Given the description of an element on the screen output the (x, y) to click on. 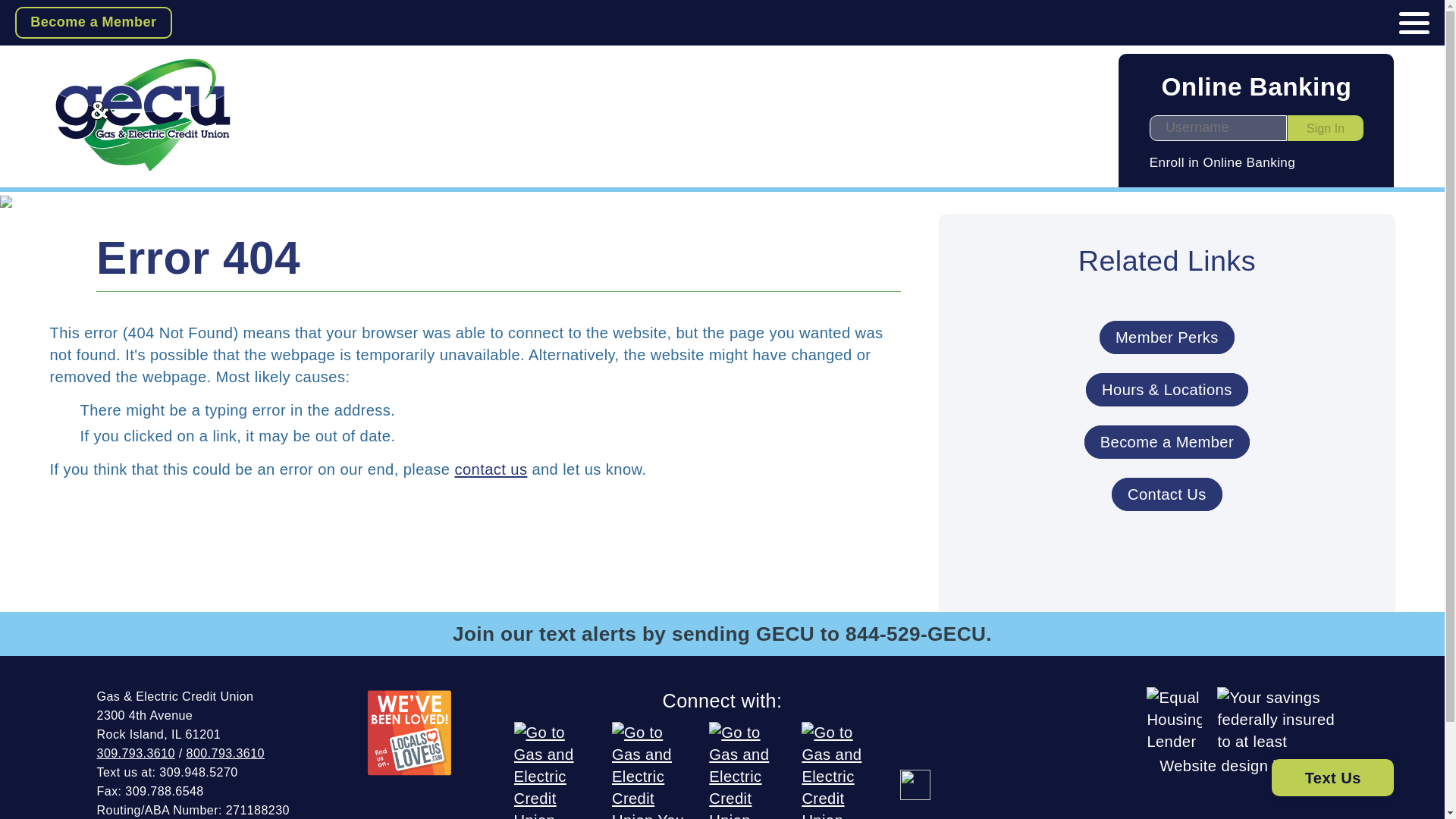
NCUA Logo (1282, 717)
Gas and Electric Logo (142, 115)
tiktok (914, 784)
Equal Housing Lender Logo (1174, 717)
Locals Love Us (409, 732)
Become a Member (92, 22)
